Given the description of an element on the screen output the (x, y) to click on. 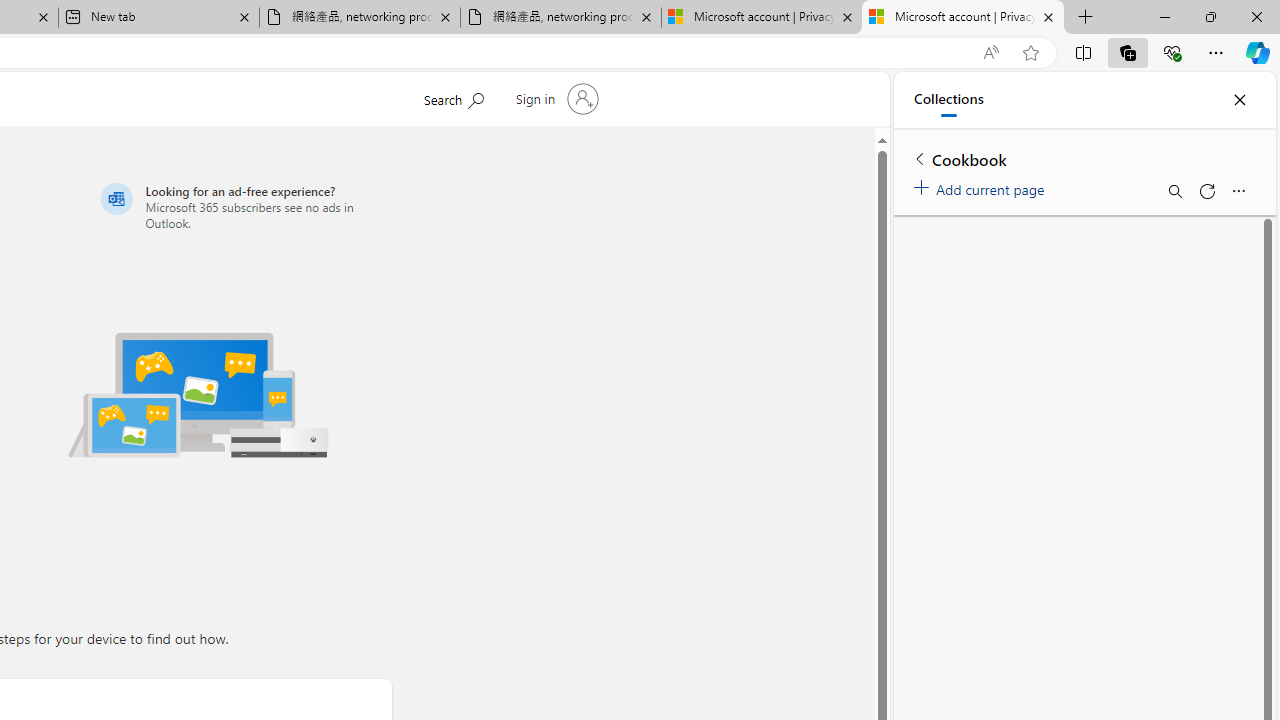
Add current page (982, 186)
Microsoft account | Privacy (962, 17)
Back to list of collections (920, 158)
Looking for an ad-free experience? (242, 206)
Sign in to your account (554, 98)
More options menu (1238, 190)
